Given the description of an element on the screen output the (x, y) to click on. 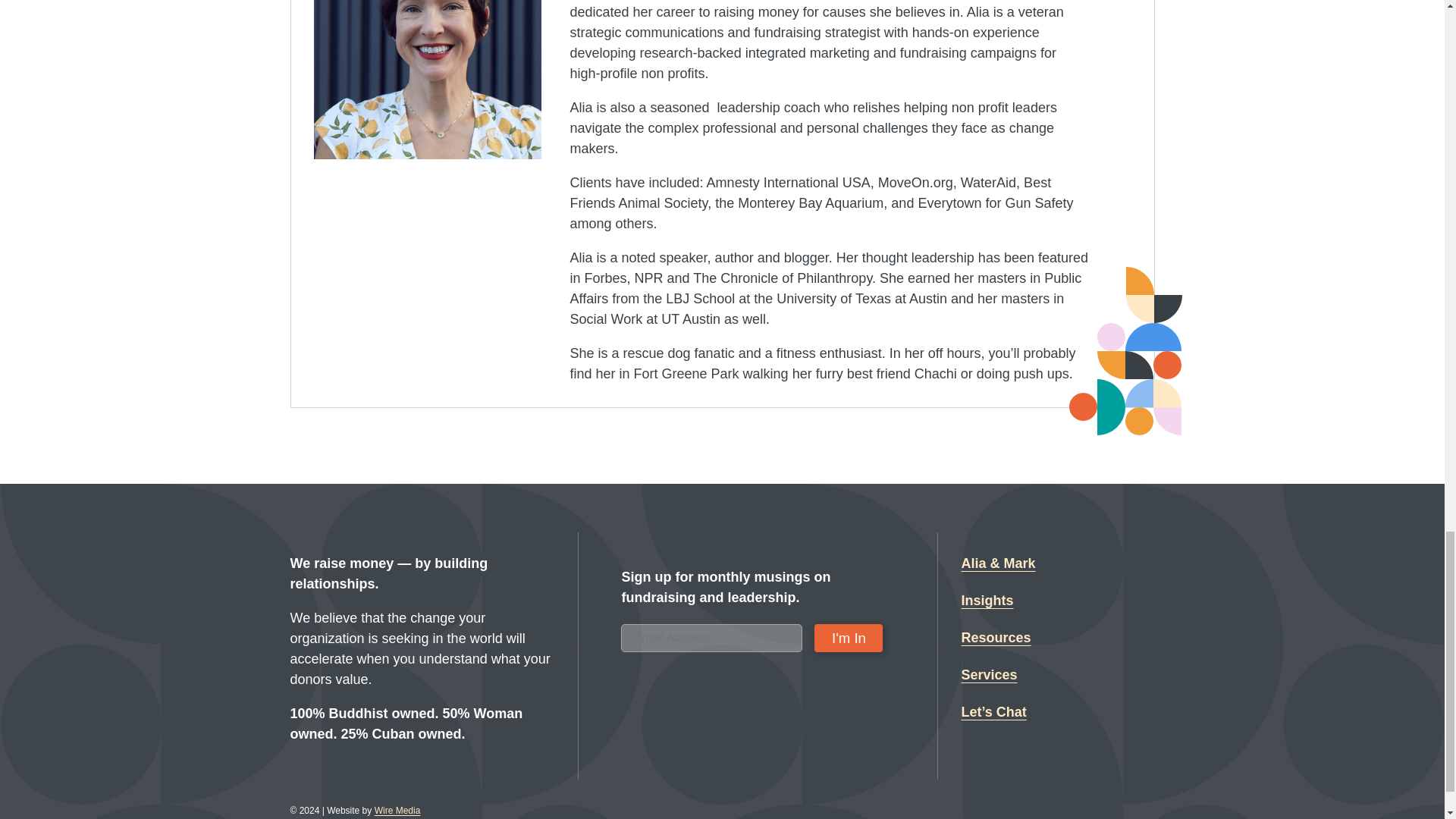
I'm In (847, 637)
Services (988, 675)
Resources (995, 638)
Wire Media (397, 810)
Insights (986, 600)
I'm In (847, 637)
